Given the description of an element on the screen output the (x, y) to click on. 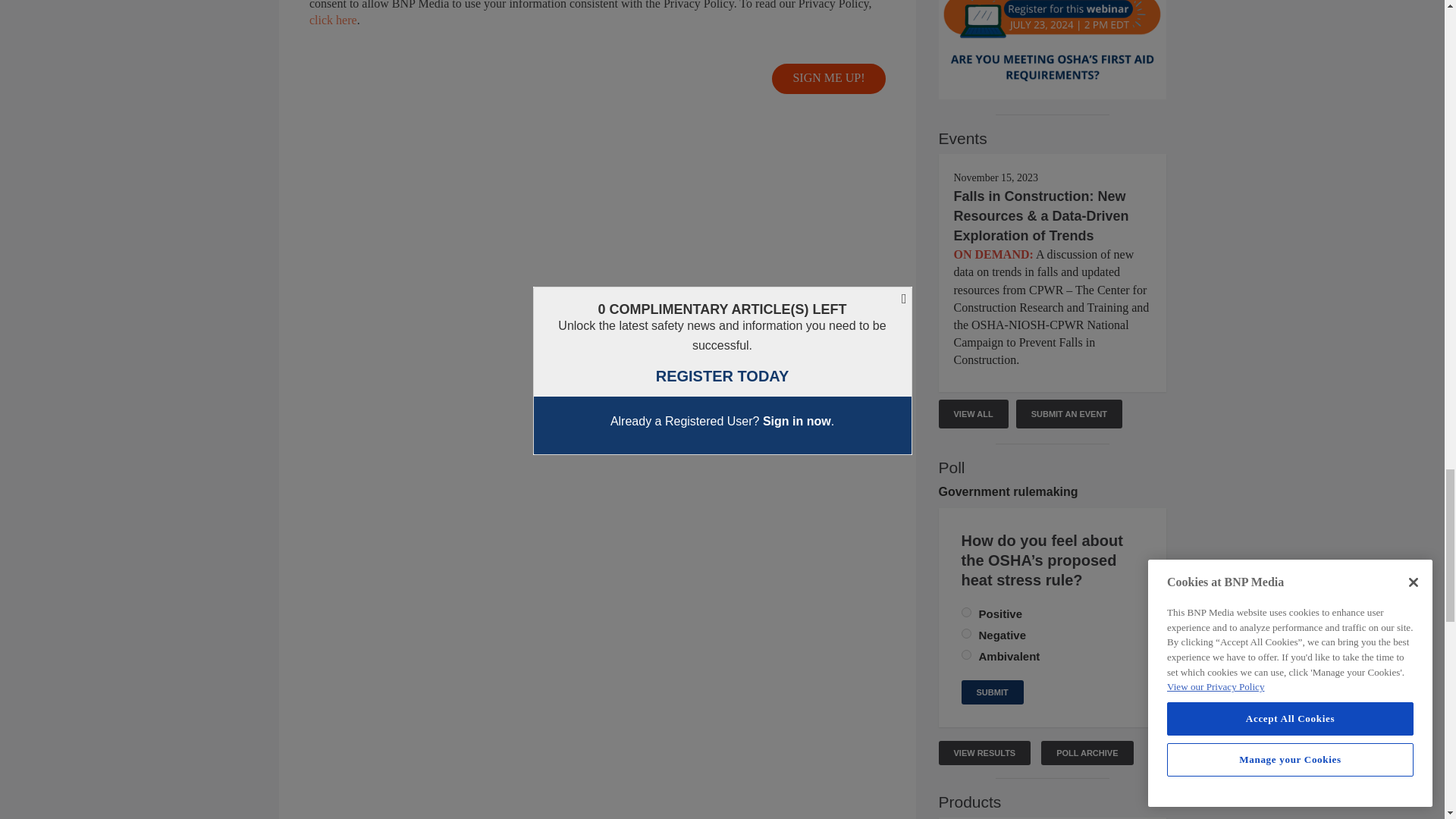
Submit (991, 692)
144 (965, 655)
143 (965, 633)
Interaction questions (597, 50)
142 (965, 612)
